Given the description of an element on the screen output the (x, y) to click on. 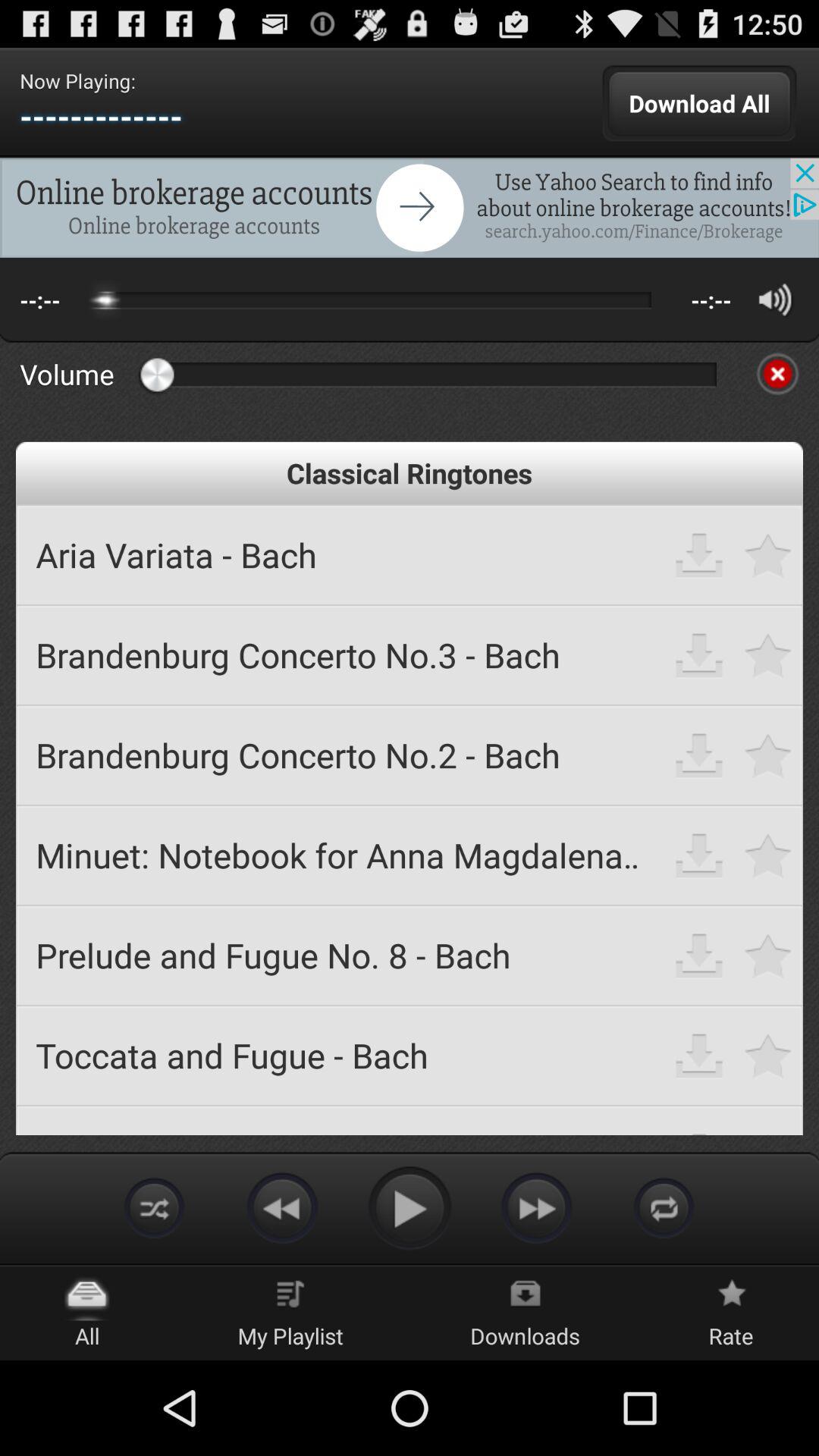
fast forward (536, 1207)
